Given the description of an element on the screen output the (x, y) to click on. 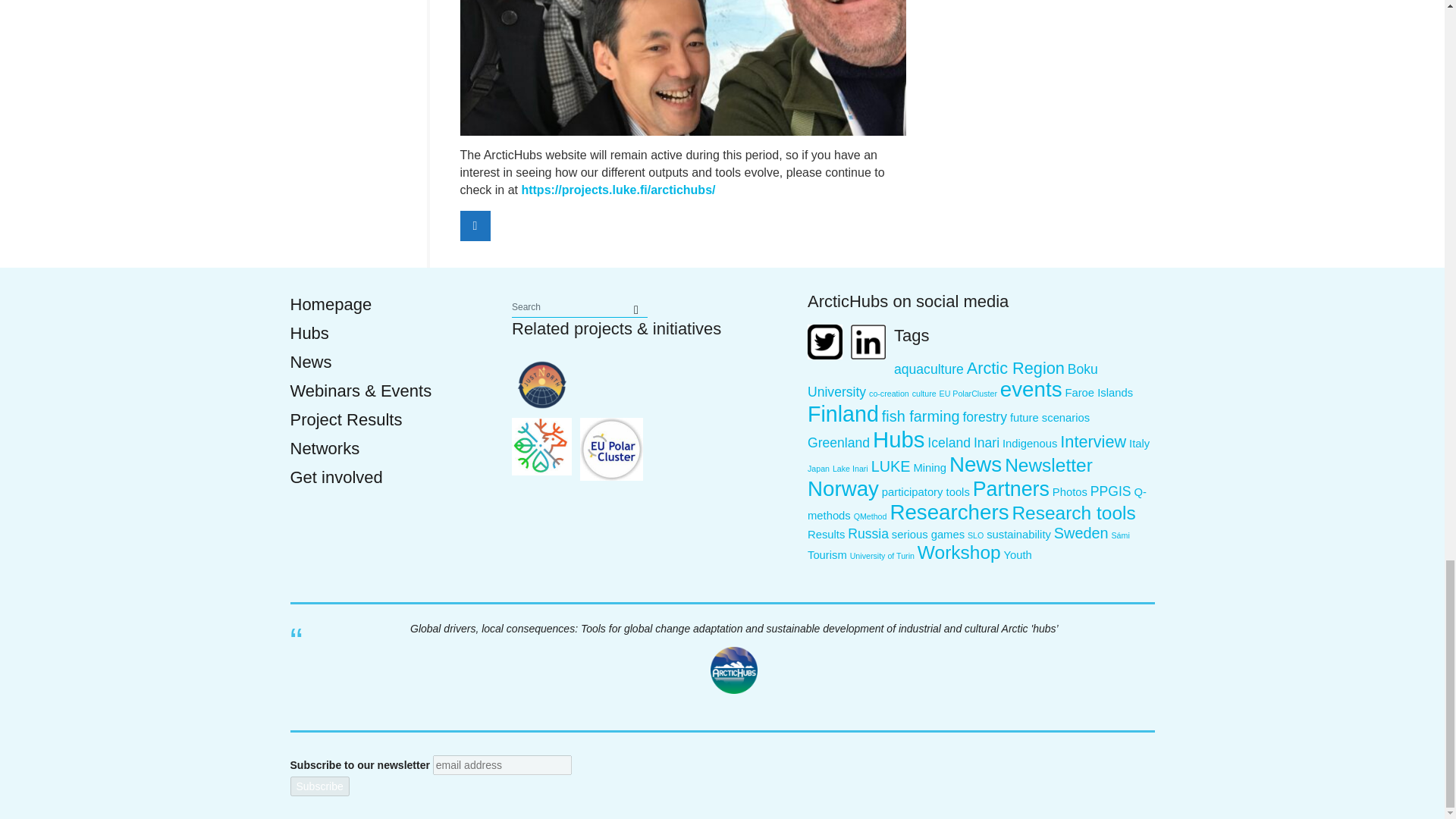
Subscribe (319, 786)
